Given the description of an element on the screen output the (x, y) to click on. 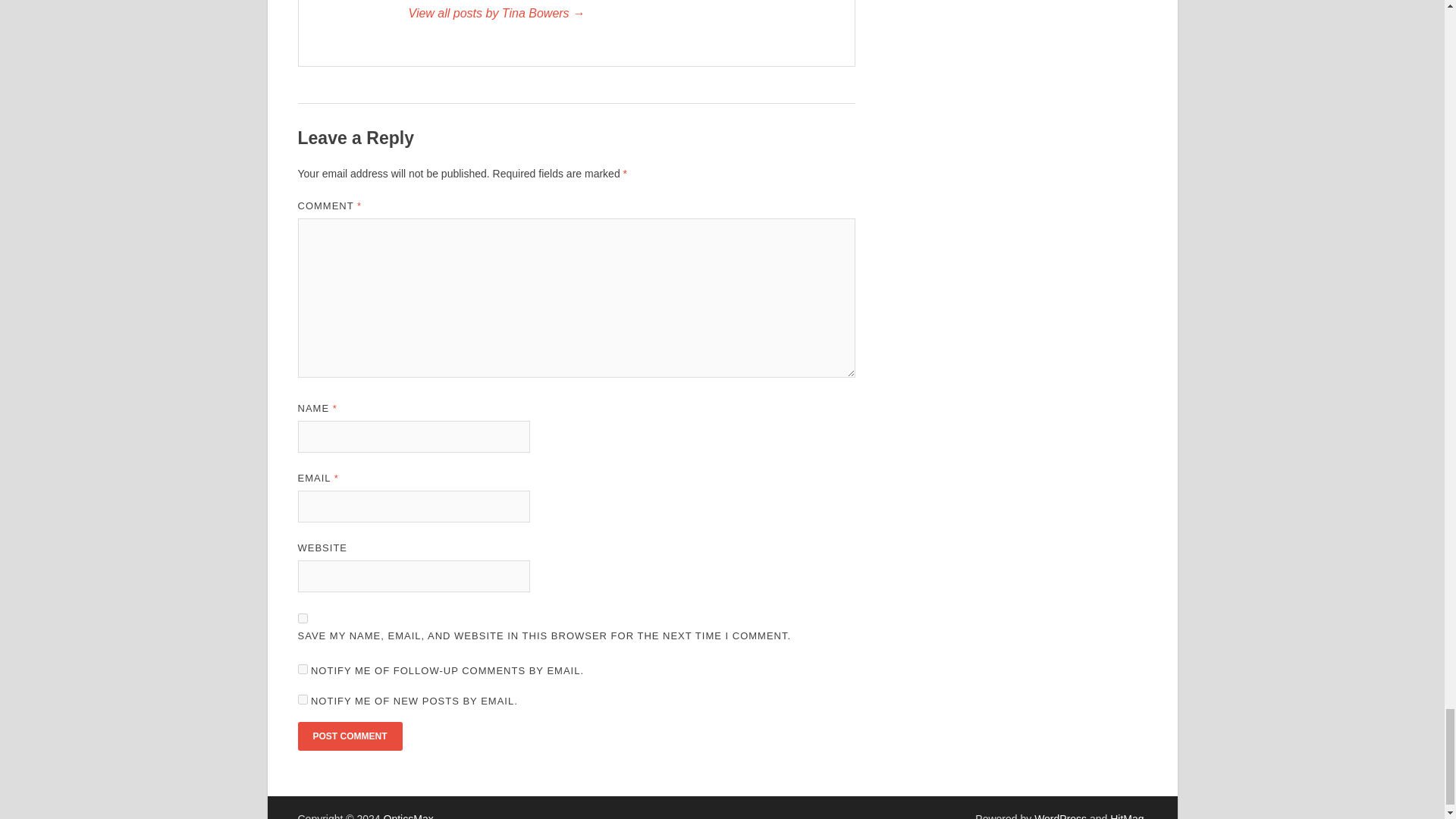
Post Comment (349, 736)
yes (302, 618)
subscribe (302, 699)
subscribe (302, 669)
